Given the description of an element on the screen output the (x, y) to click on. 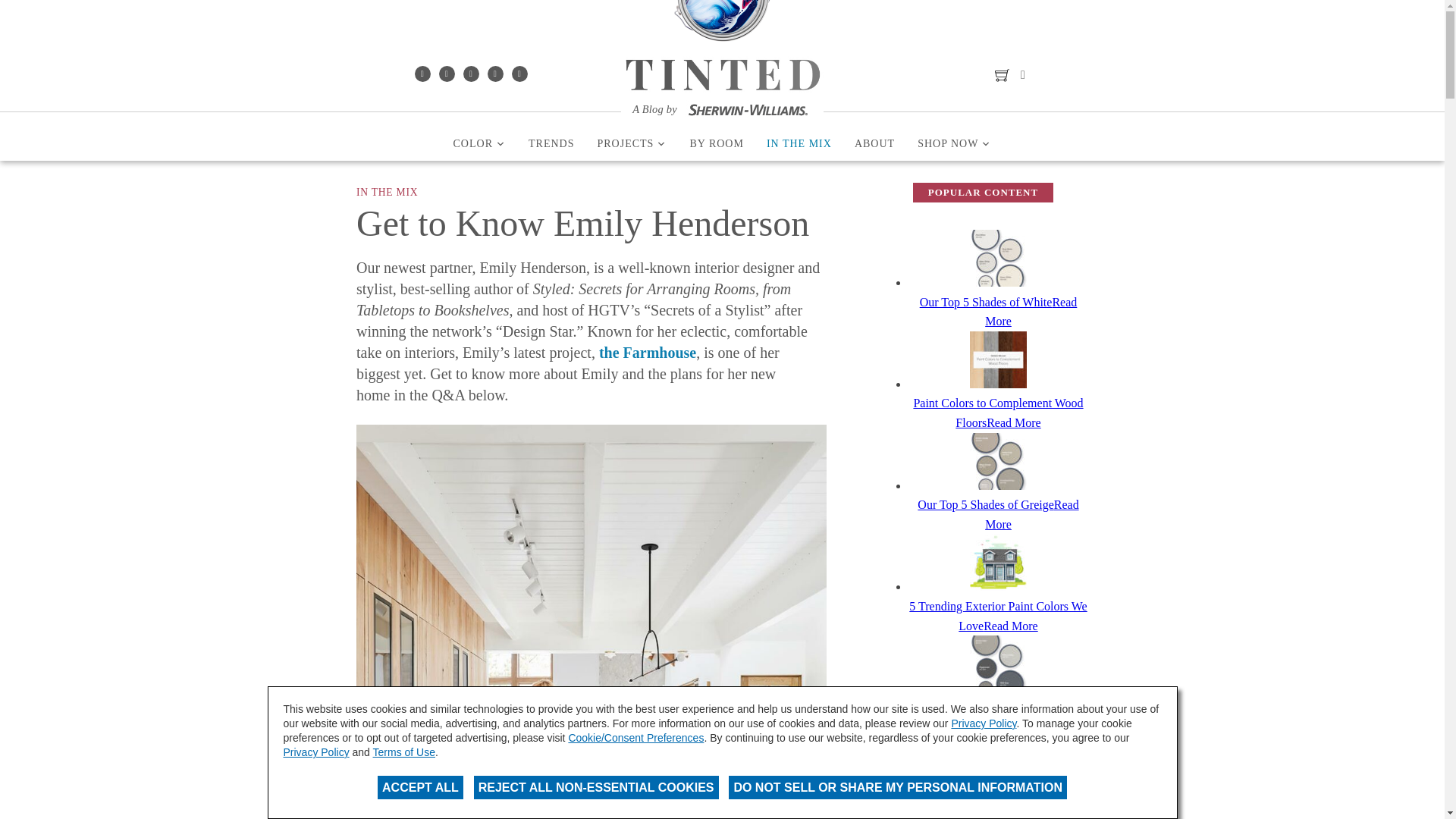
Default Label (471, 72)
Facebook (421, 72)
Twitter (494, 72)
twitter (494, 72)
A Blog by (722, 111)
Default Label (519, 72)
facebook (421, 72)
instagram (446, 72)
Instagram (446, 72)
pinterest (471, 72)
youtube (519, 72)
